Given the description of an element on the screen output the (x, y) to click on. 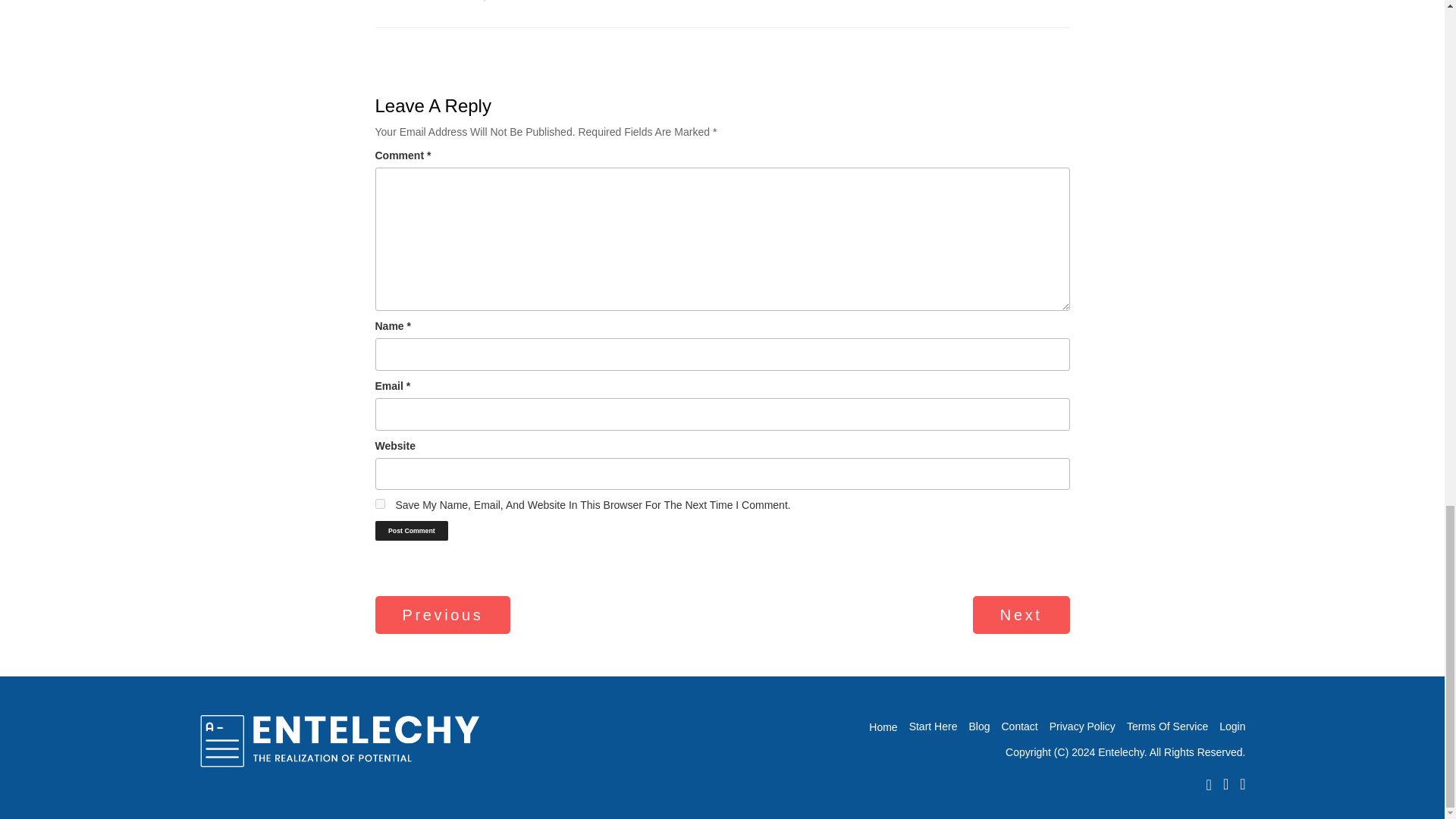
Home (882, 727)
Post Comment (411, 530)
Login (1021, 616)
EDUCATIONAL TECHNOLOGY (1232, 726)
Blog (442, 616)
STEALTH ASSESSMENT (979, 726)
yes (1018, 726)
Post Comment (379, 503)
Start Here (1167, 726)
Privacy Policy (411, 530)
